Given the description of an element on the screen output the (x, y) to click on. 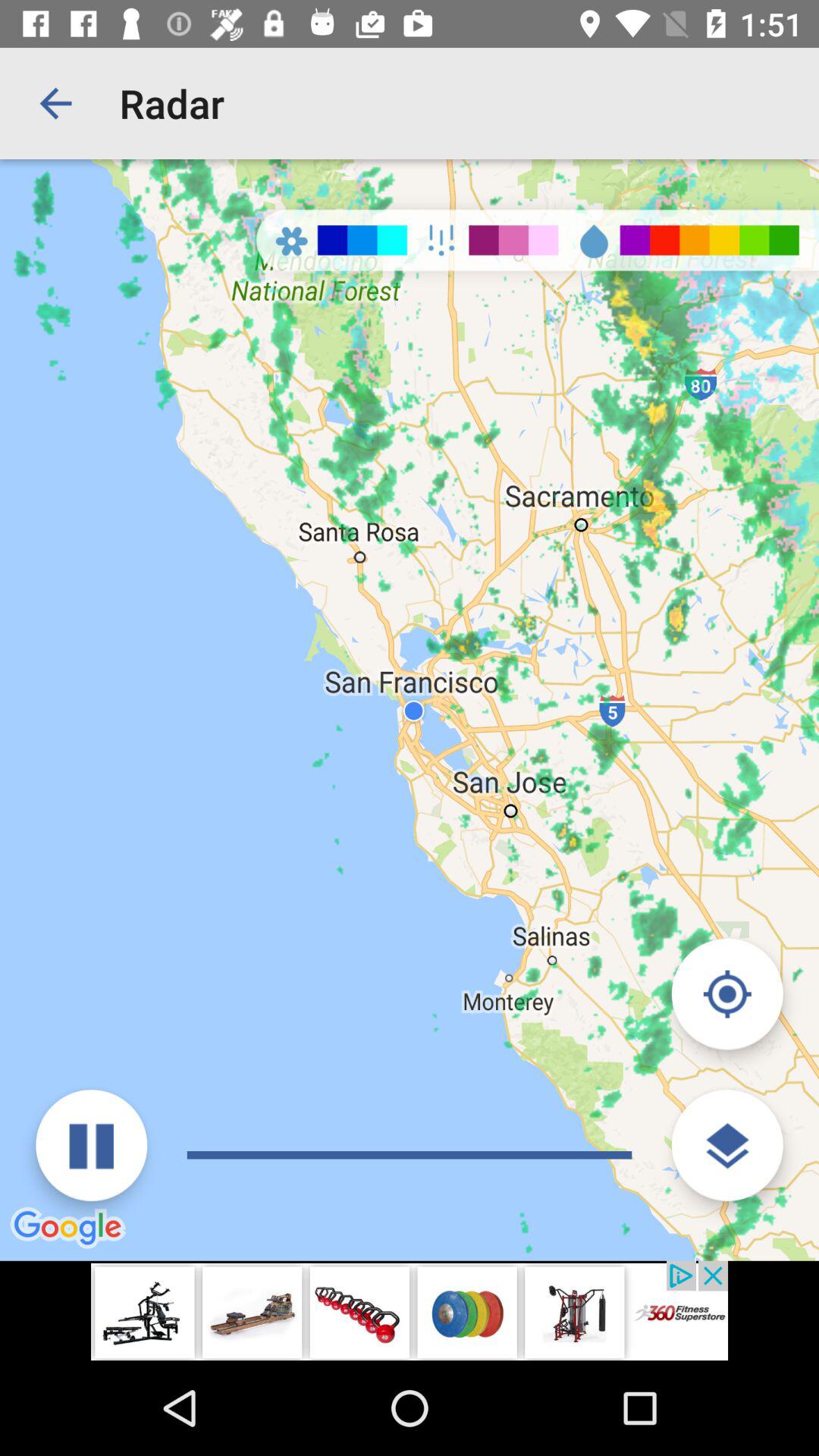
current location (727, 993)
